Given the description of an element on the screen output the (x, y) to click on. 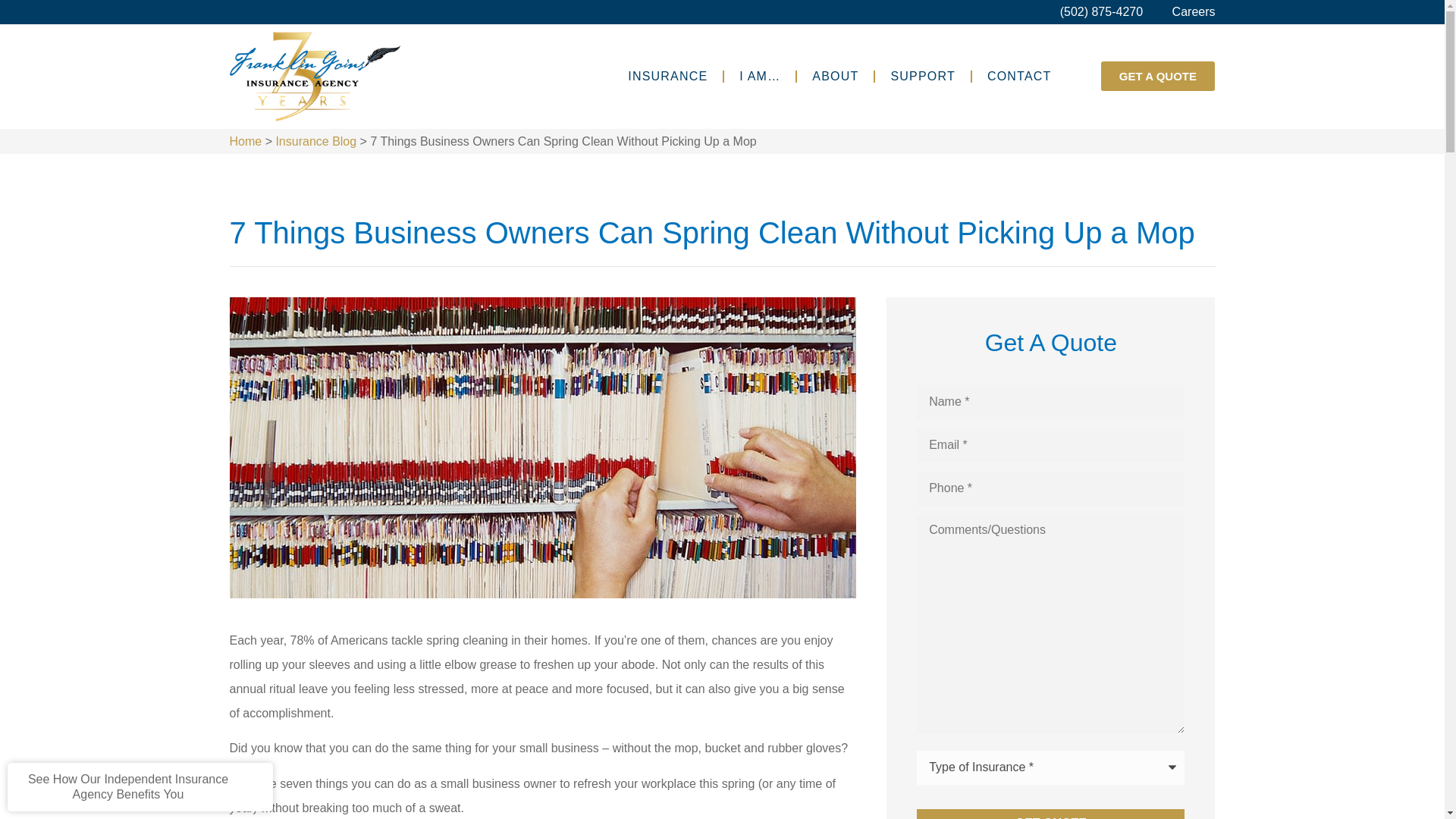
Careers (1184, 12)
ABOUT (834, 75)
Get Quote (1051, 814)
INSURANCE (667, 75)
